Given the description of an element on the screen output the (x, y) to click on. 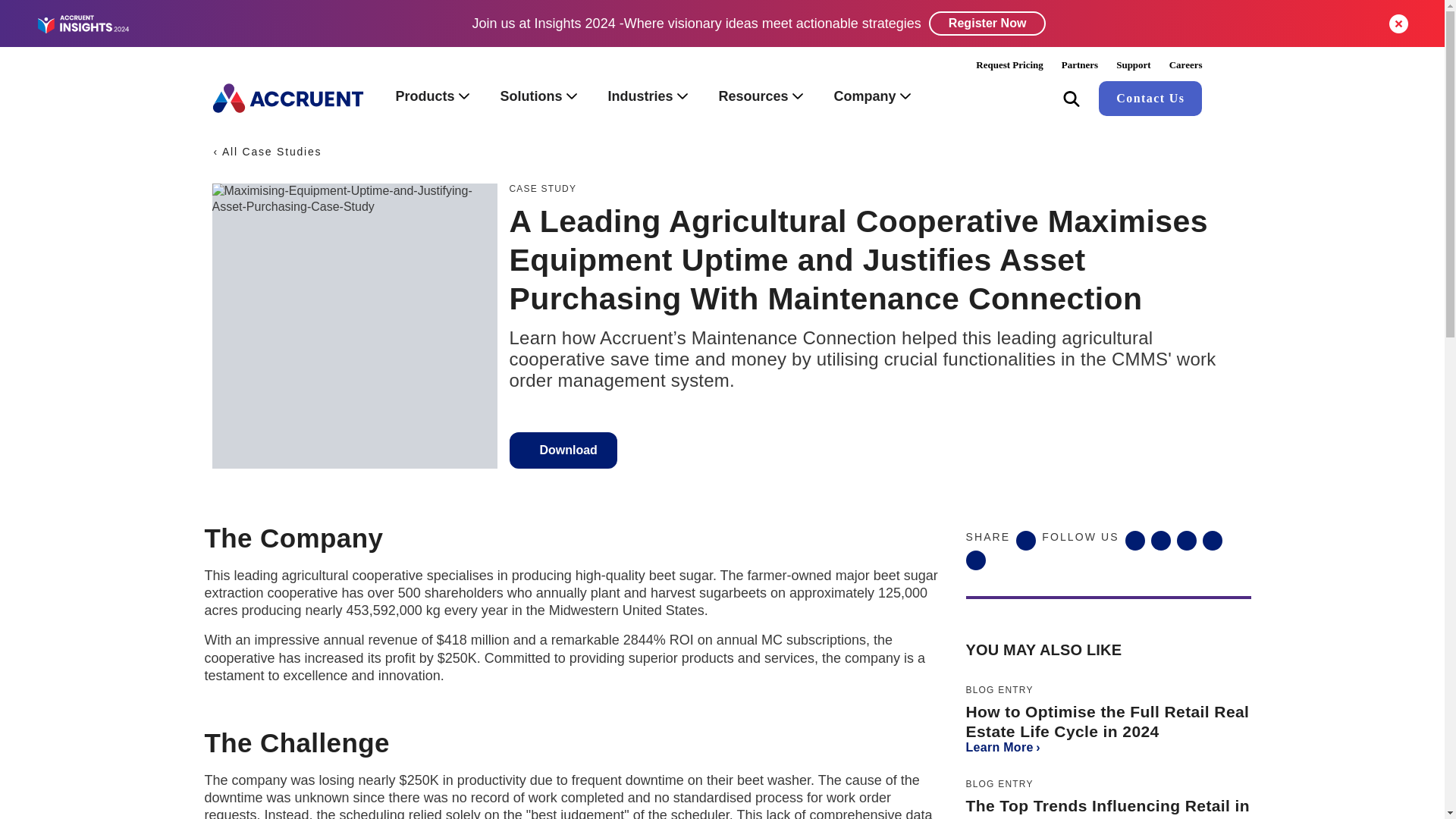
Support (1133, 64)
Products (432, 98)
Partners (1079, 64)
Register Now (987, 23)
Solutions (538, 98)
Careers (1185, 64)
Request Pricing (1008, 64)
Industries (647, 98)
Resources (760, 98)
